Given the description of an element on the screen output the (x, y) to click on. 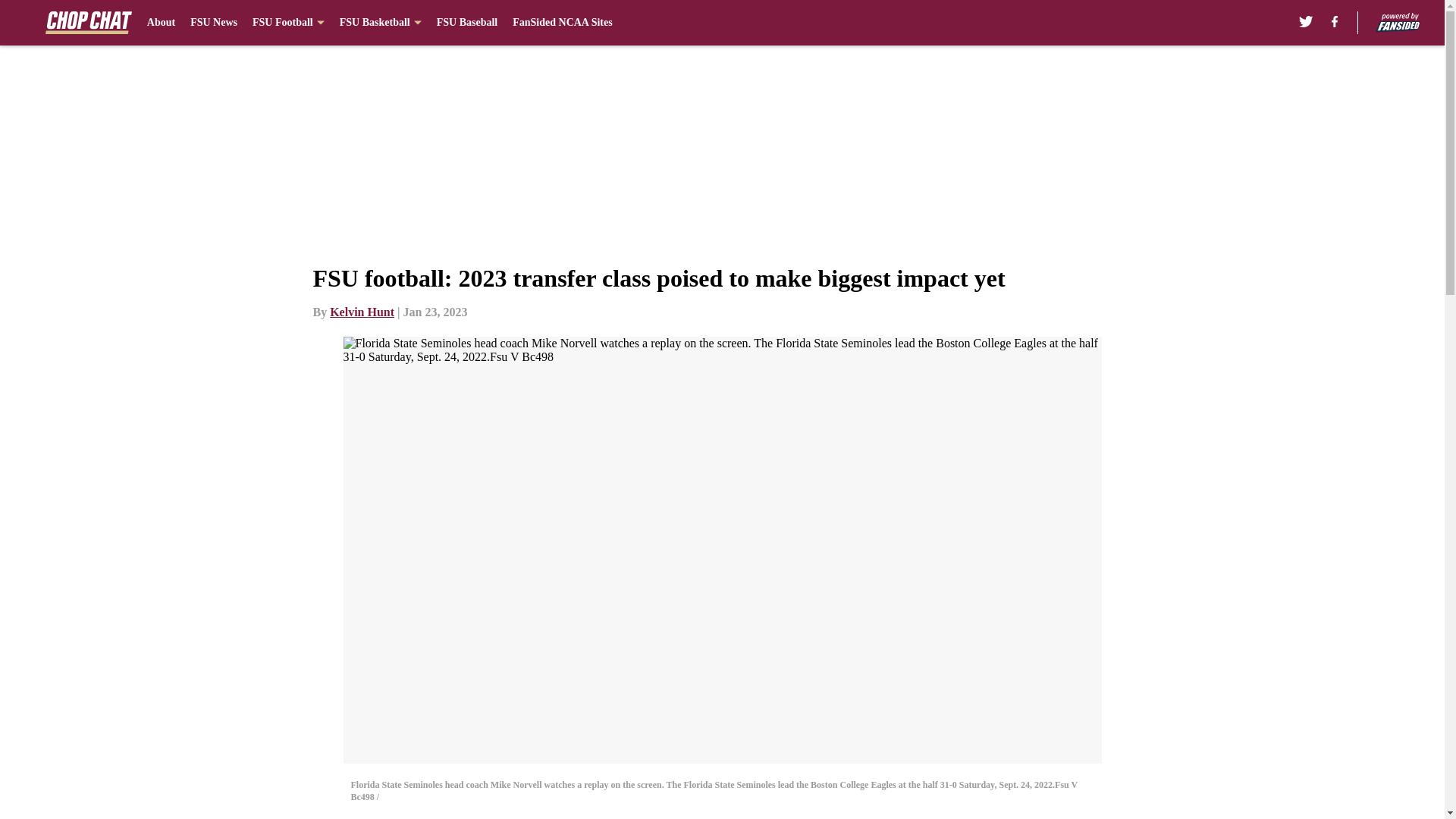
FanSided NCAA Sites (561, 22)
FSU Baseball (466, 22)
Kelvin Hunt (362, 311)
About (160, 22)
FSU News (213, 22)
